Given the description of an element on the screen output the (x, y) to click on. 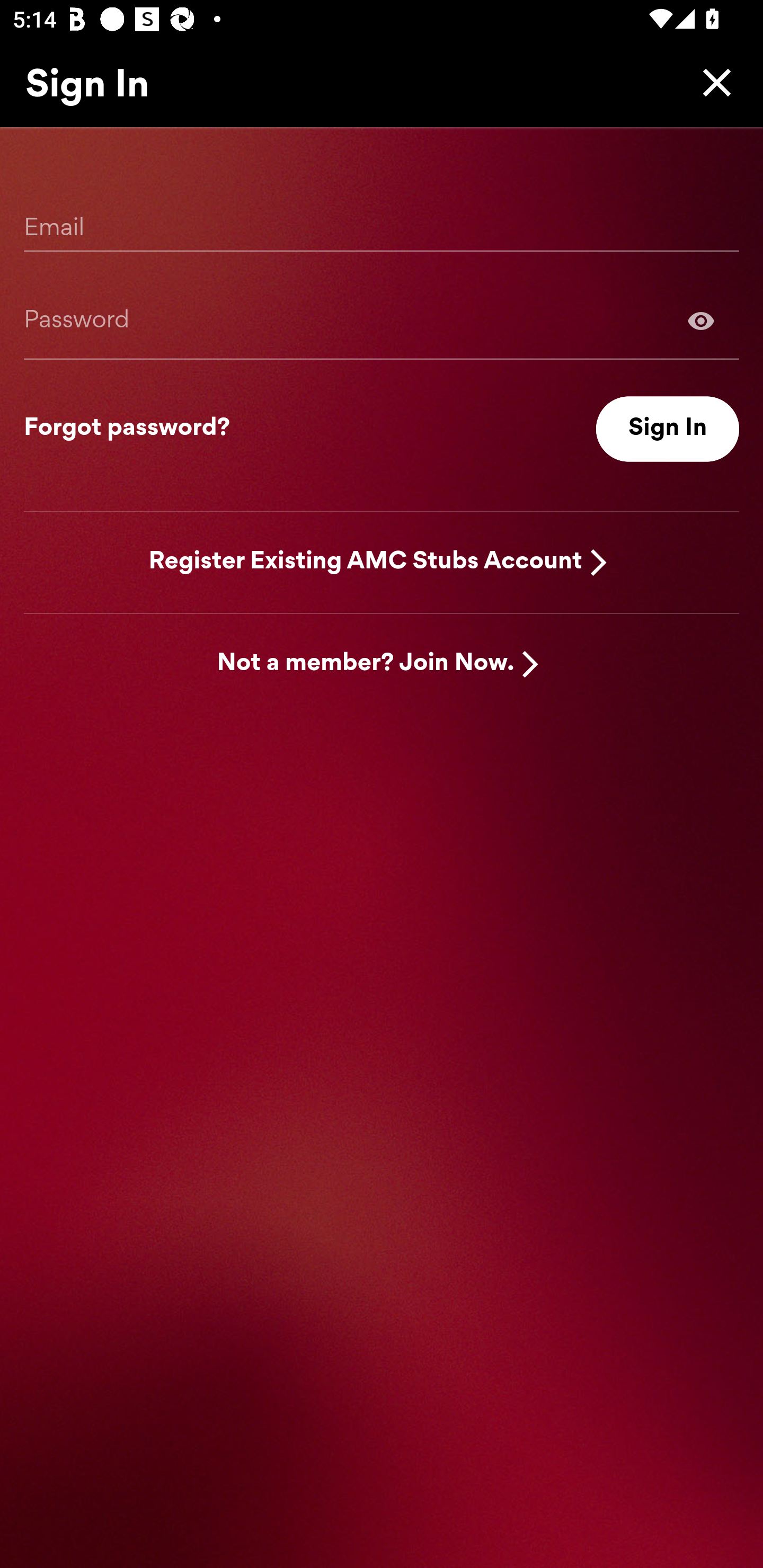
Close (712, 82)
Show Password (381, 320)
Show Password (701, 320)
Forgot password? (126, 428)
Sign In (667, 428)
Register Existing AMC Stubs Account (365, 561)
Not a member? Join Now. (365, 663)
